Given the description of an element on the screen output the (x, y) to click on. 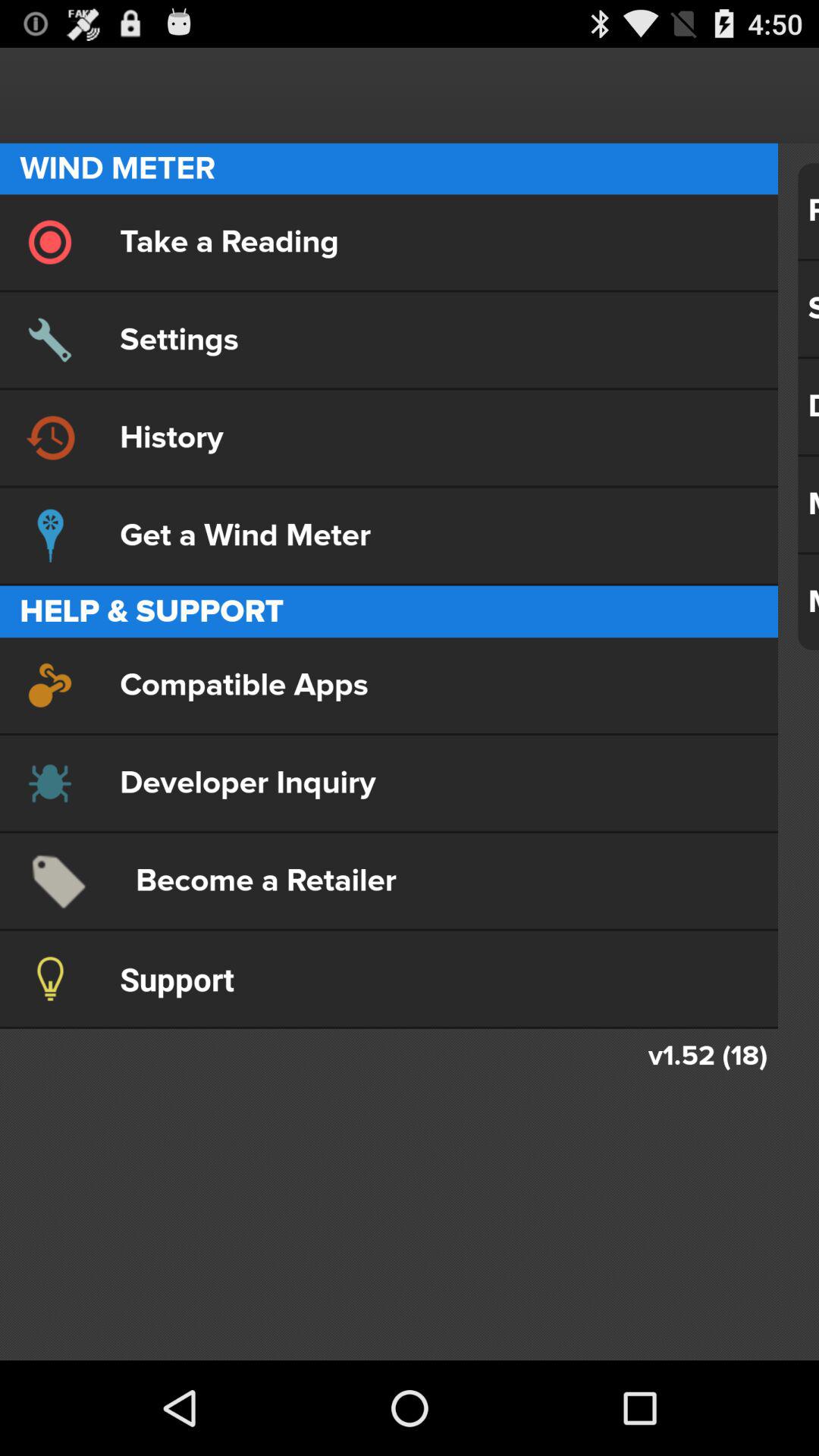
open the item below wind meter (389, 242)
